Given the description of an element on the screen output the (x, y) to click on. 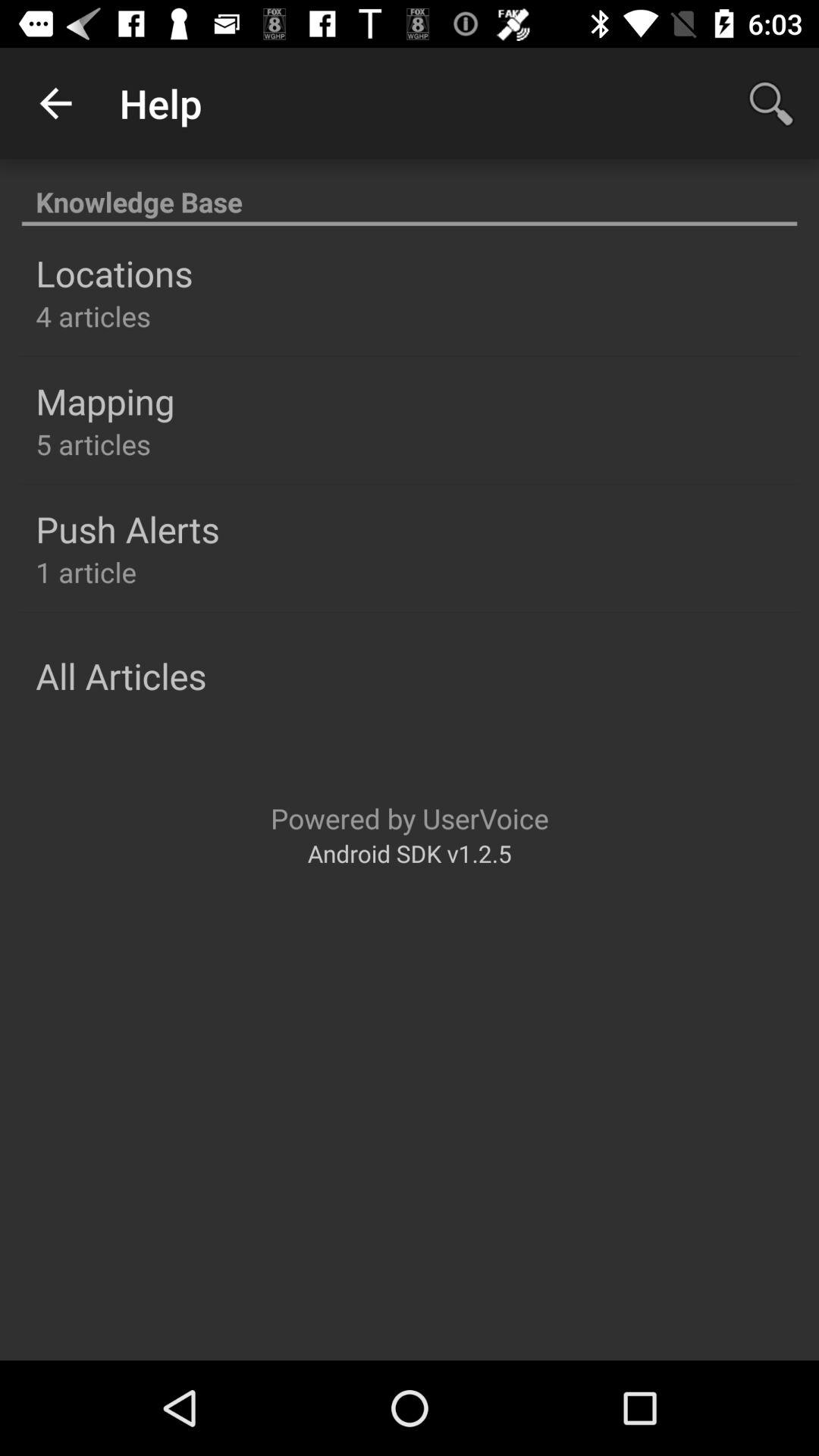
choose all articles (120, 675)
